Given the description of an element on the screen output the (x, y) to click on. 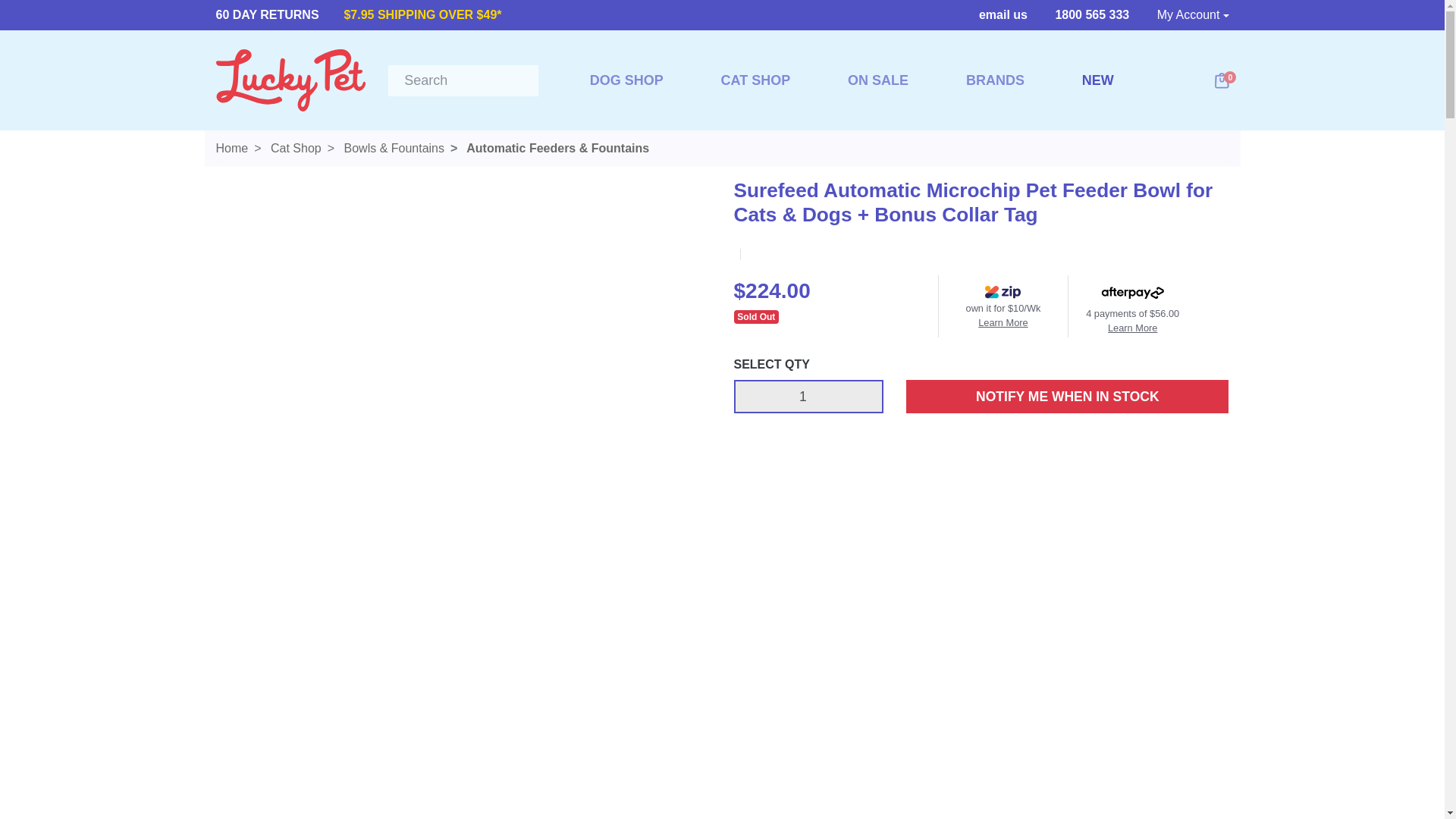
ON SALE (877, 79)
CAT SHOP (756, 79)
NEW (1097, 102)
DOG SHOP (626, 79)
BRANDS (994, 79)
Lucky Pet Supplies (290, 78)
1800 565 333 (1087, 14)
email us (999, 14)
1 (808, 396)
